Given the description of an element on the screen output the (x, y) to click on. 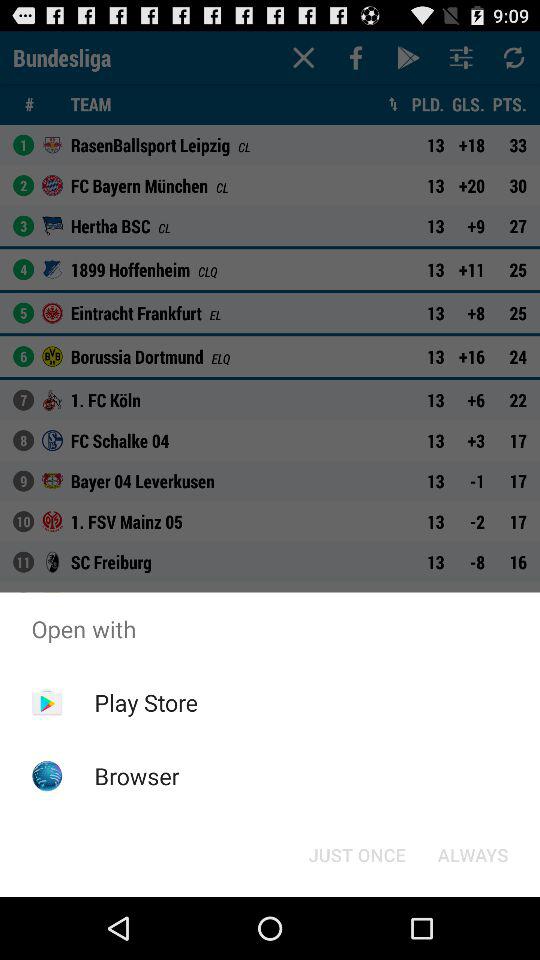
choose the icon above browser item (146, 702)
